Given the description of an element on the screen output the (x, y) to click on. 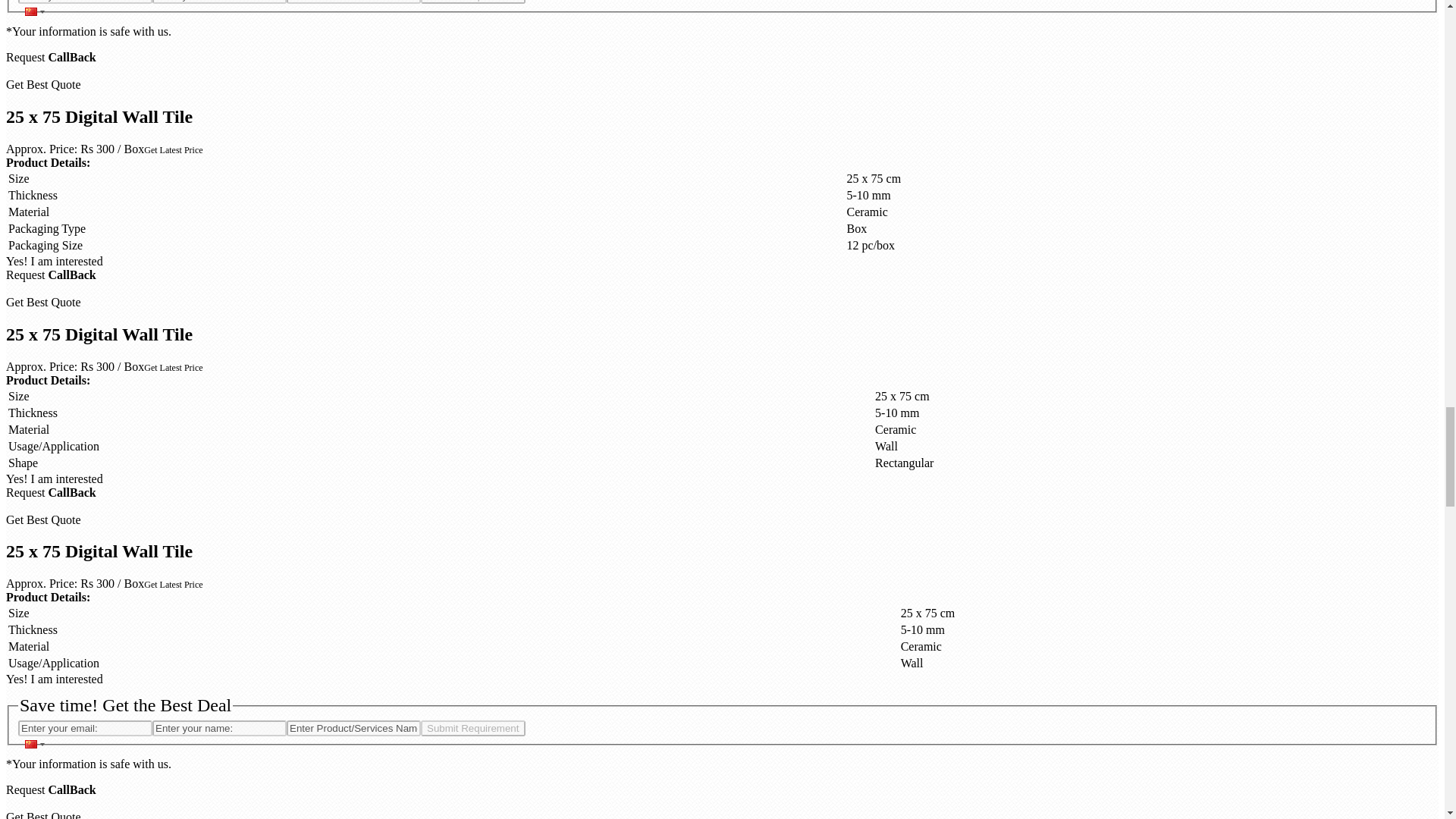
Submit Requirement (472, 728)
Submit Requirement (472, 2)
Enter your name: (219, 2)
Enter your name: (219, 728)
Enter your email: (84, 728)
Enter your email: (84, 2)
Submit Requirement (472, 2)
Submit Requirement (472, 728)
